Given the description of an element on the screen output the (x, y) to click on. 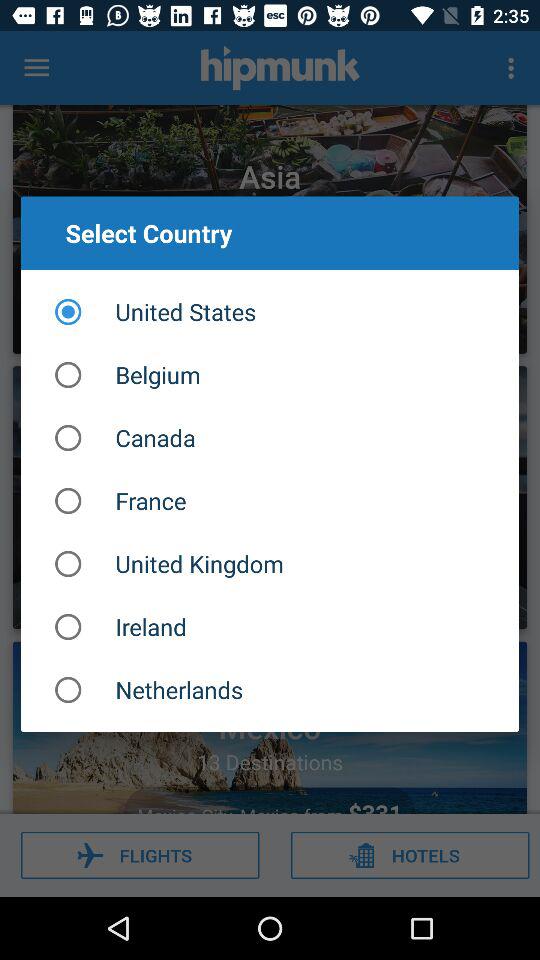
scroll to the belgium icon (270, 374)
